Given the description of an element on the screen output the (x, y) to click on. 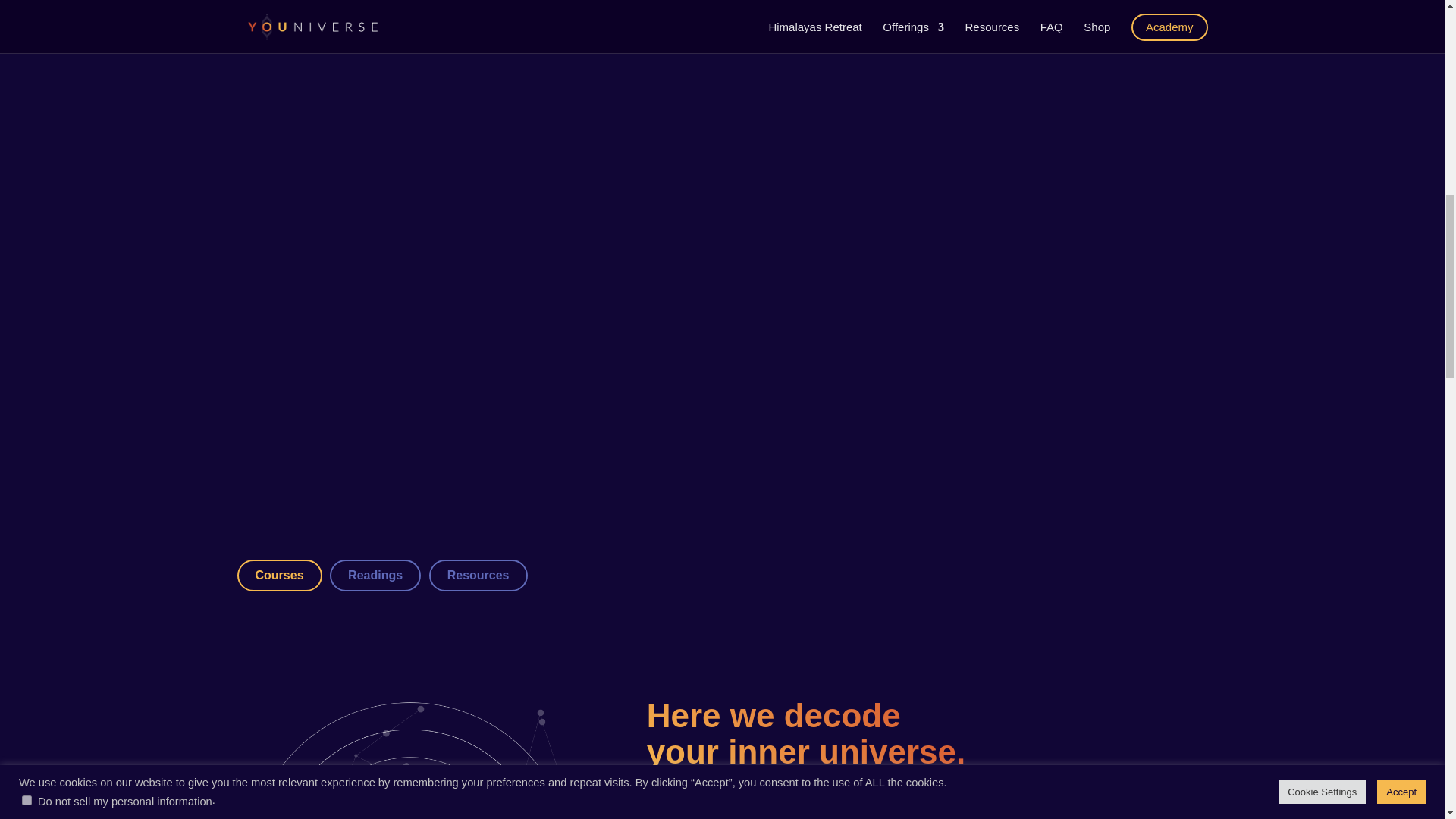
Courses (278, 575)
Resources (478, 575)
Readings (375, 575)
